Given the description of an element on the screen output the (x, y) to click on. 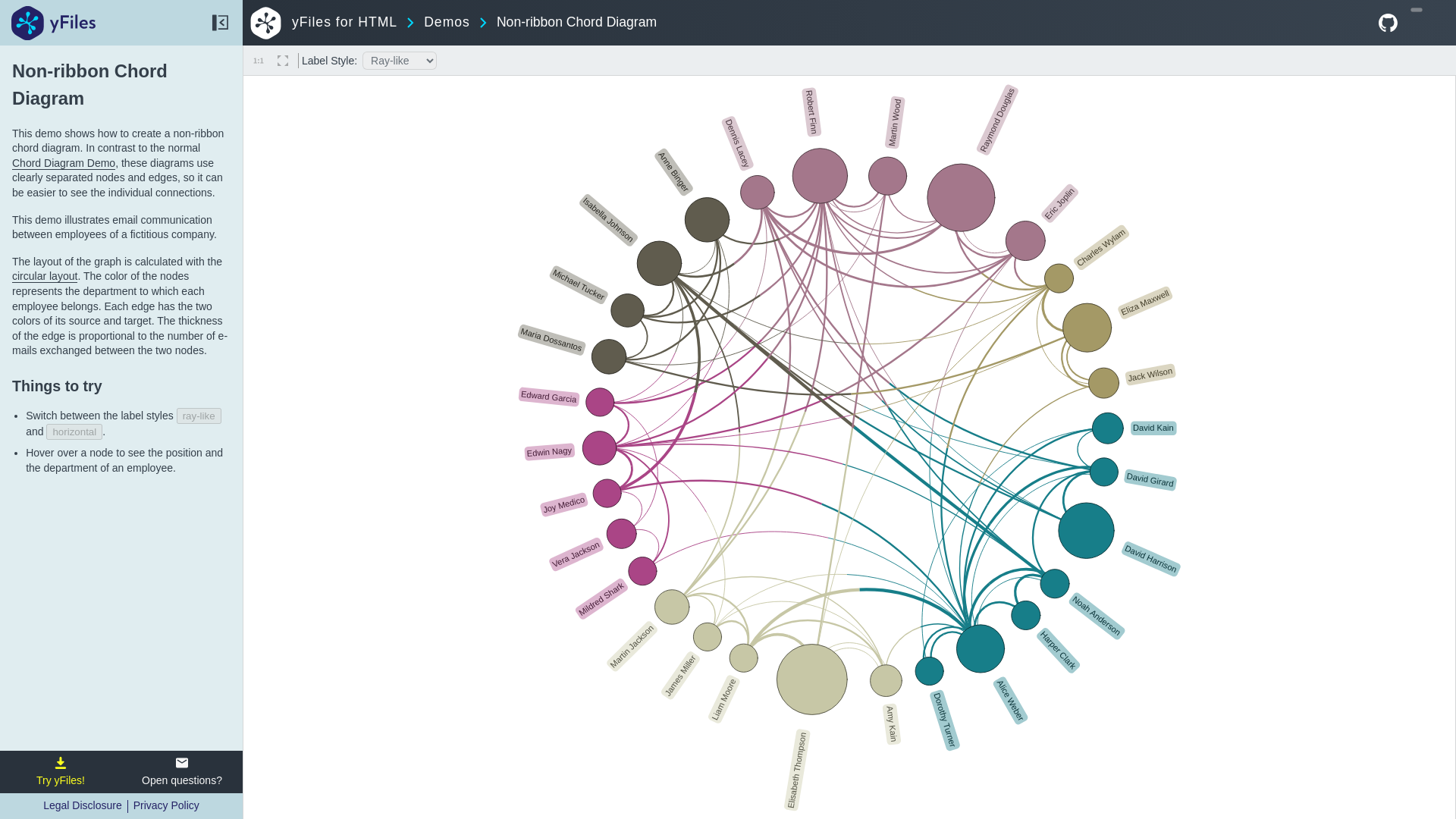
yFiles for HTML (344, 22)
Toggle description (219, 22)
Privacy Policy (166, 806)
Legal Disclosure (82, 806)
Chord Diagram Demo (63, 163)
View on GitHub (1387, 22)
horizontal (73, 431)
Visit yFiles product details (60, 771)
circular layout (265, 22)
Zoom to original size (181, 771)
Demos (44, 276)
Fit content (258, 60)
ray-like (437, 22)
